Given the description of an element on the screen output the (x, y) to click on. 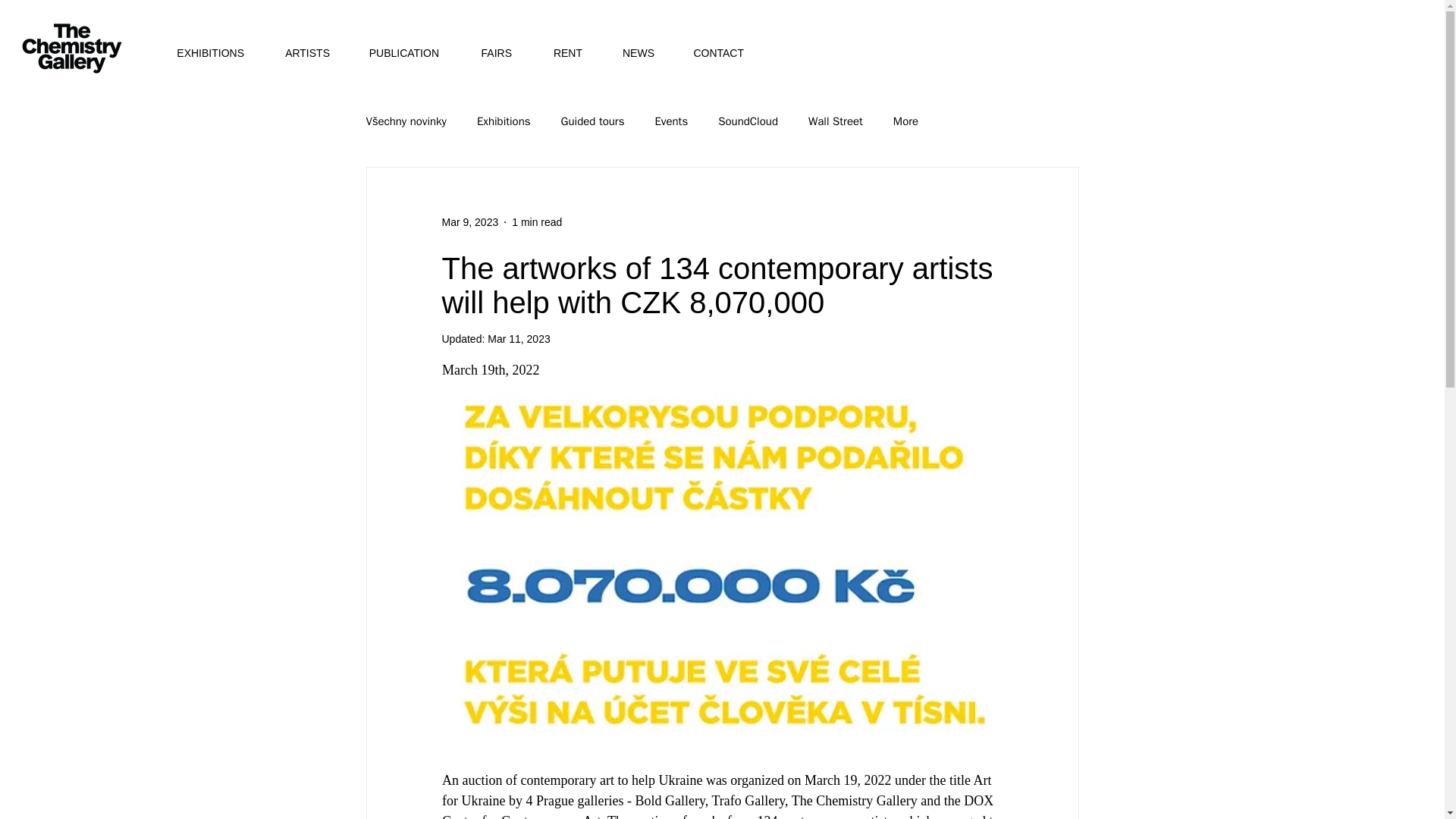
Mar 11, 2023 (518, 338)
CONTACT (710, 53)
ARTISTS (298, 53)
RENT (558, 53)
FAIRS (485, 53)
NEWS (629, 53)
PUBLICATION (394, 53)
Mar 9, 2023 (469, 221)
EXHIBITIONS (202, 53)
1 min read (537, 221)
